Given the description of an element on the screen output the (x, y) to click on. 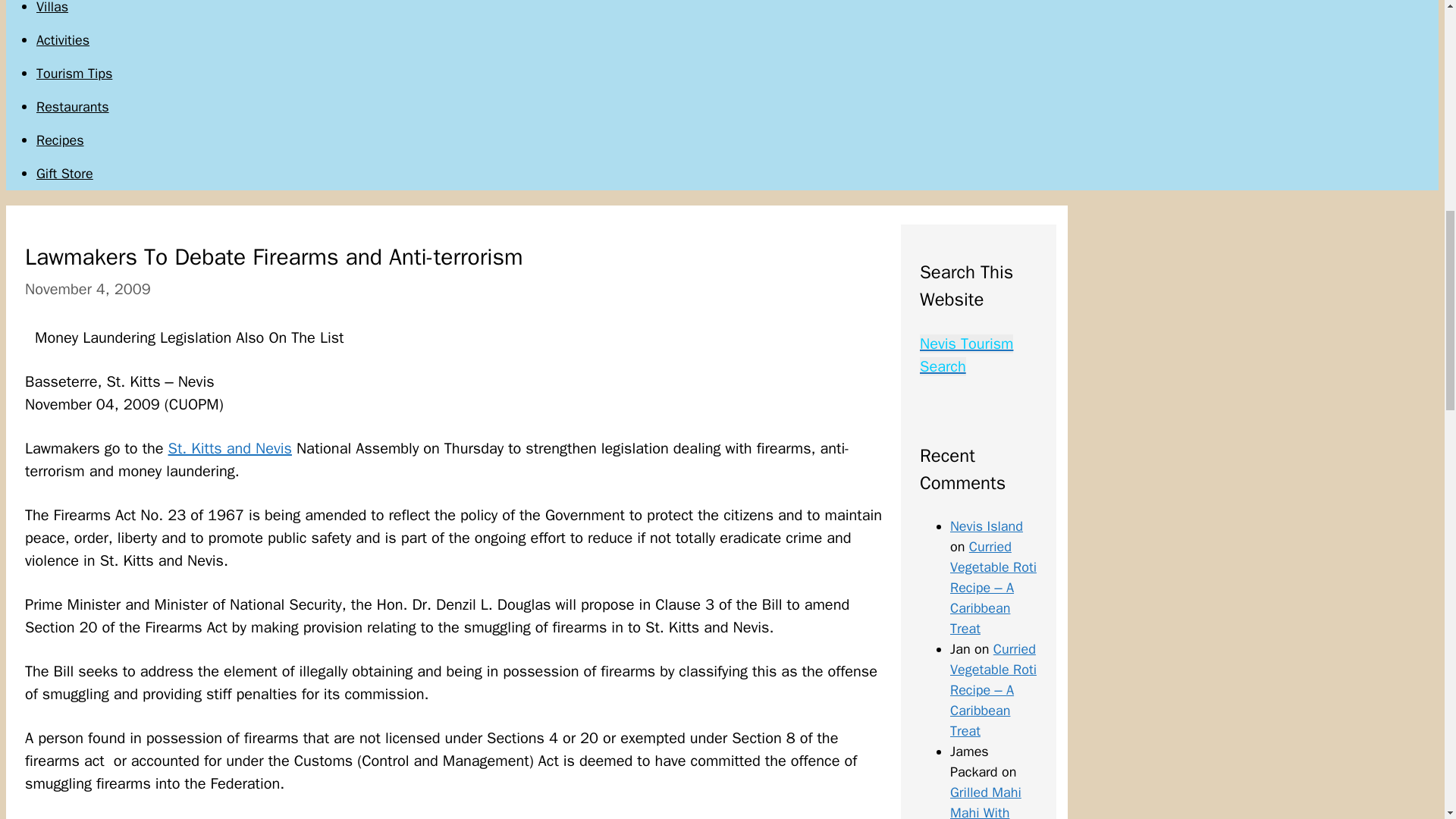
Villas (52, 7)
Nevis Tourism Search (966, 354)
Restaurants (72, 106)
Recipes (60, 139)
Nevis Island (986, 525)
Gift Store (64, 173)
St. Kitts and Nevis (230, 447)
Tourism Tips (74, 73)
Activities (62, 39)
